Given the description of an element on the screen output the (x, y) to click on. 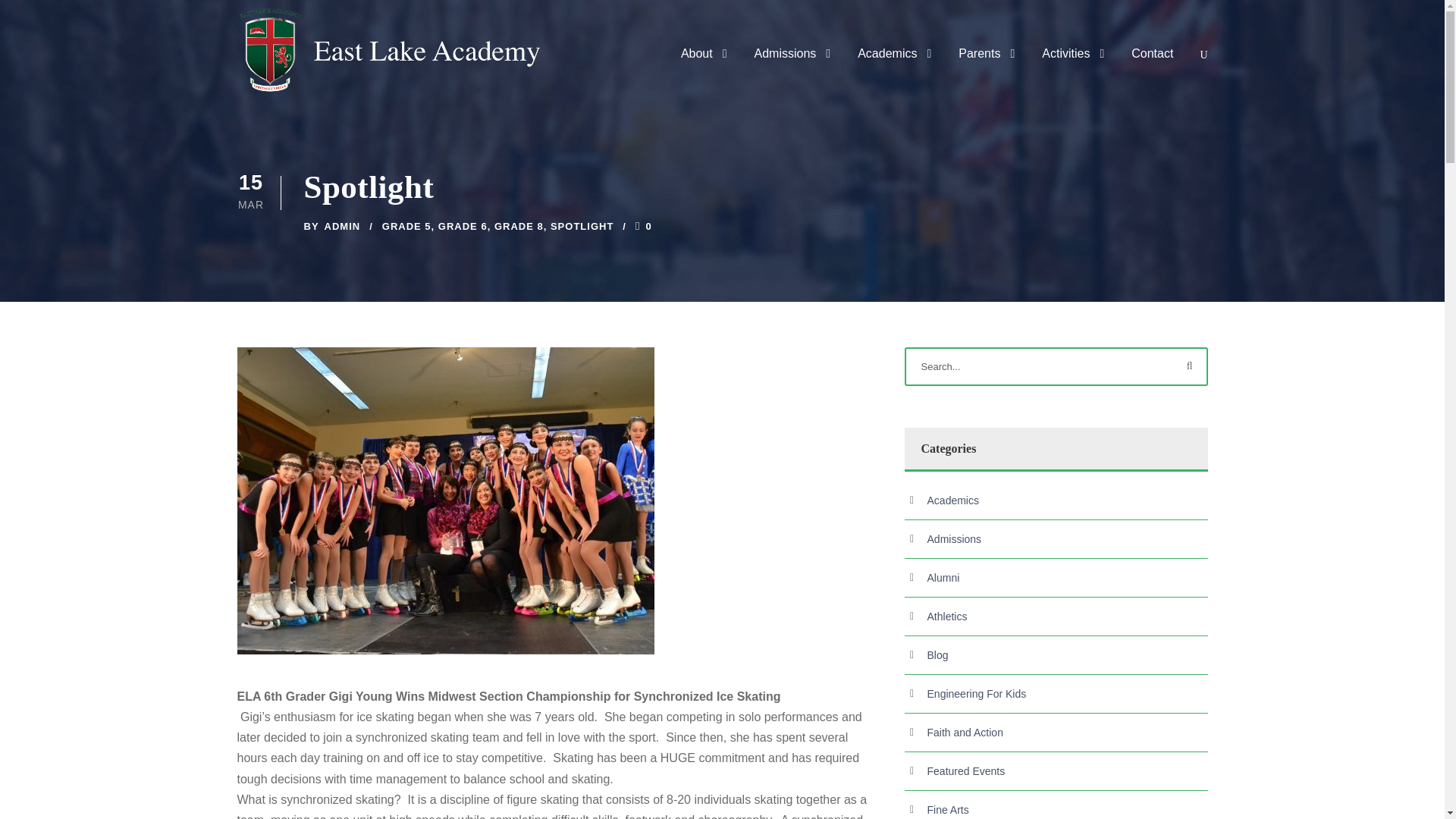
Posts by admin (342, 225)
